Given the description of an element on the screen output the (x, y) to click on. 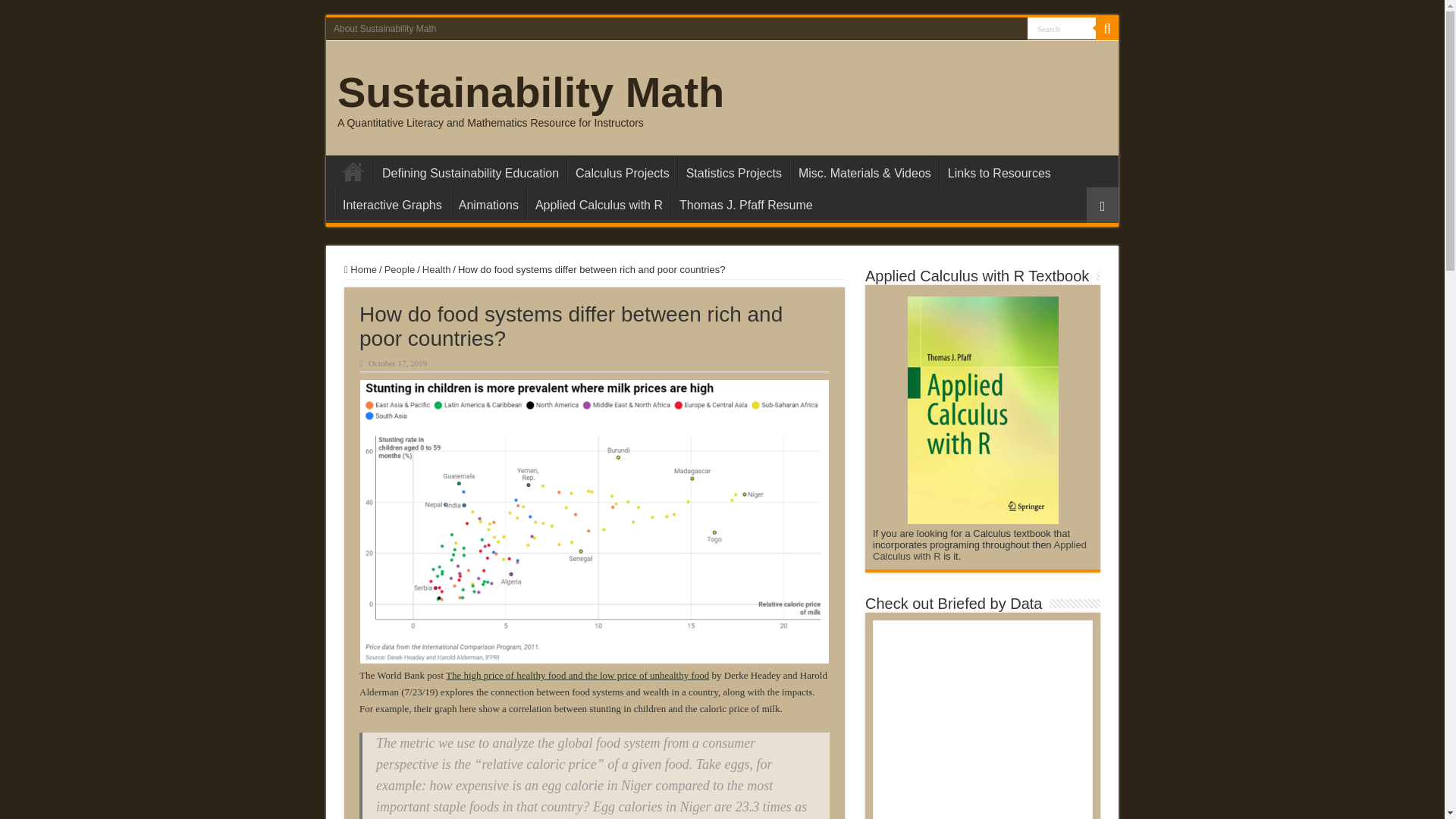
Home (352, 171)
Home (360, 269)
Search (1107, 28)
Links to Resources (998, 171)
Search (1061, 28)
Animations (487, 203)
Search (1061, 28)
About Sustainability Math (385, 28)
Calculus Projects (622, 171)
Interactive Graphs (391, 203)
Statistics Projects (733, 171)
Applied Calculus with R (598, 203)
Defining Sustainability Education (470, 171)
Search (1061, 28)
